Given the description of an element on the screen output the (x, y) to click on. 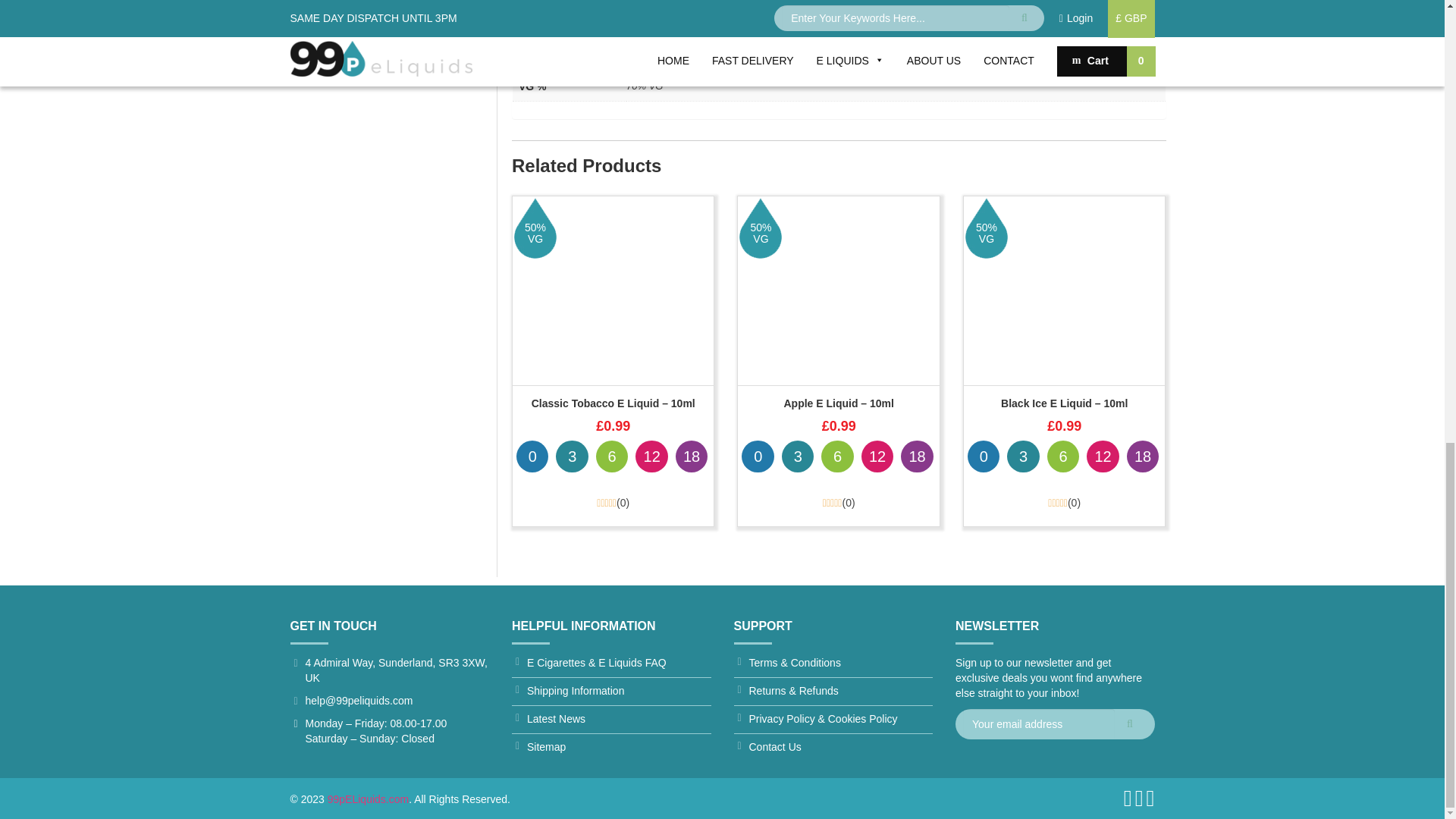
3 mg Nicotine Strength is in Stock (572, 456)
0 mg Nicotine Strength is in Stock (532, 456)
12 mg Nicotine Strength is in Stock (650, 456)
0 mg Nicotine Strength is in Stock (757, 456)
18 mg Nicotine Strength is in Stock (691, 456)
6 mg Nicotine Strength is in Stock (611, 456)
